Given the description of an element on the screen output the (x, y) to click on. 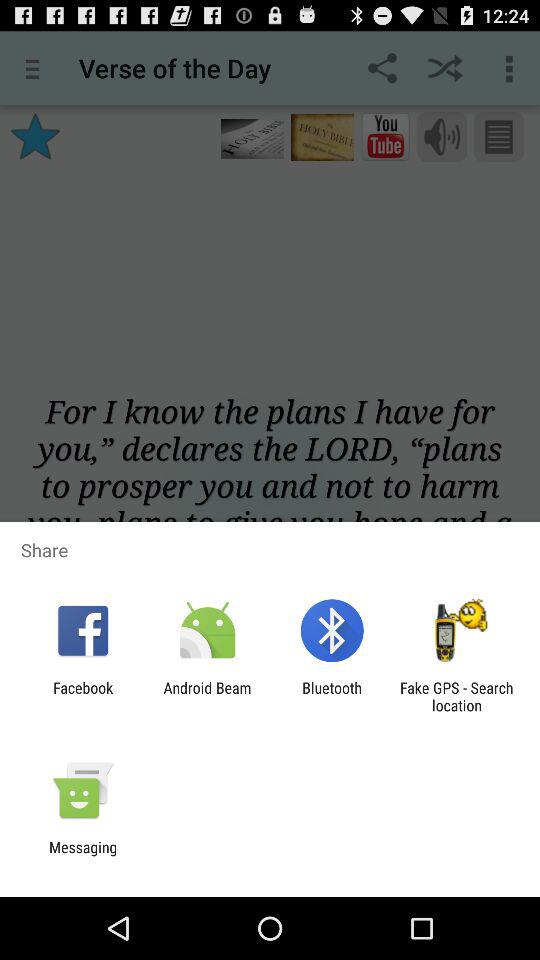
flip until the messaging app (83, 856)
